Given the description of an element on the screen output the (x, y) to click on. 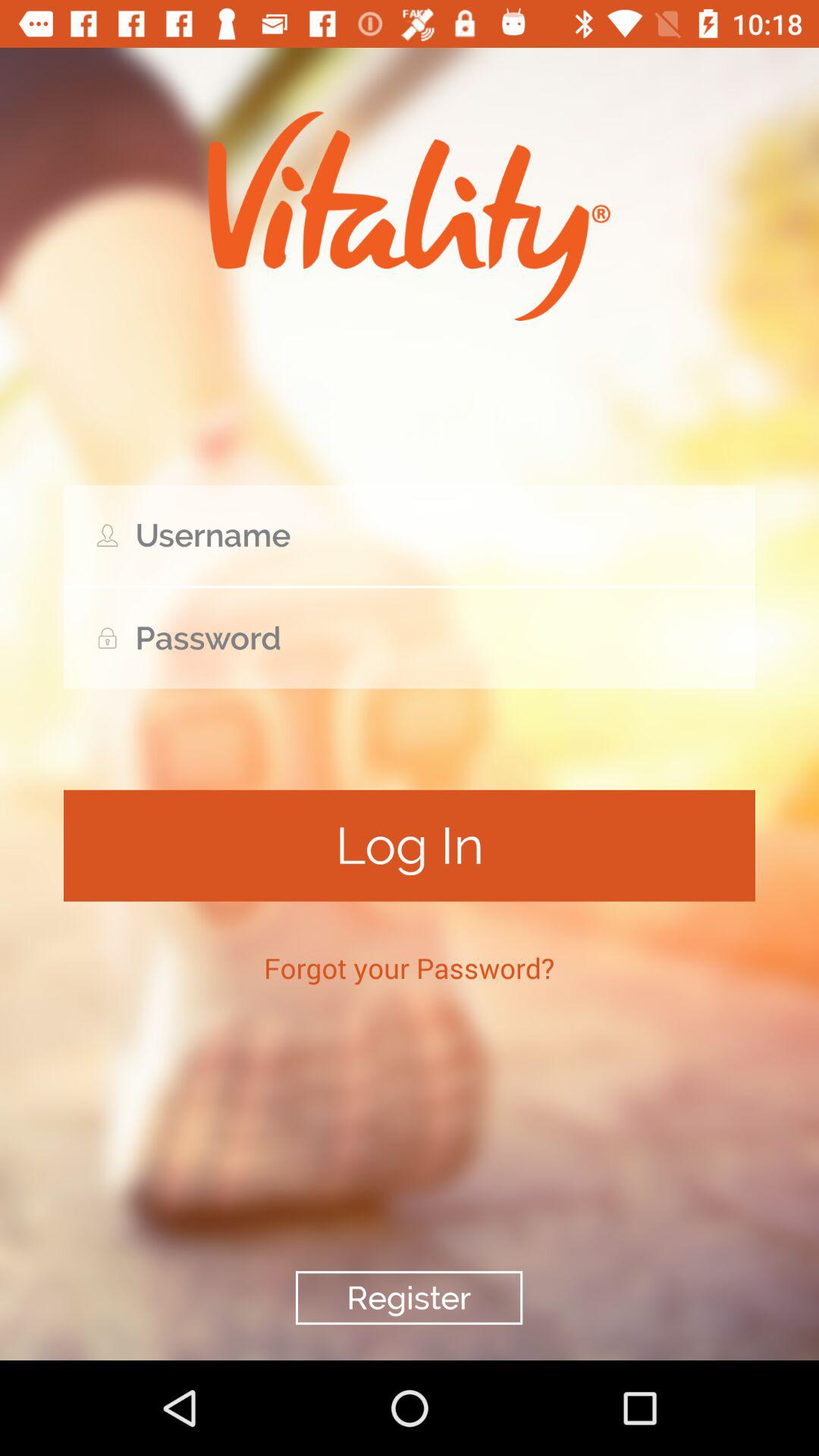
select item below the log in (408, 967)
